Given the description of an element on the screen output the (x, y) to click on. 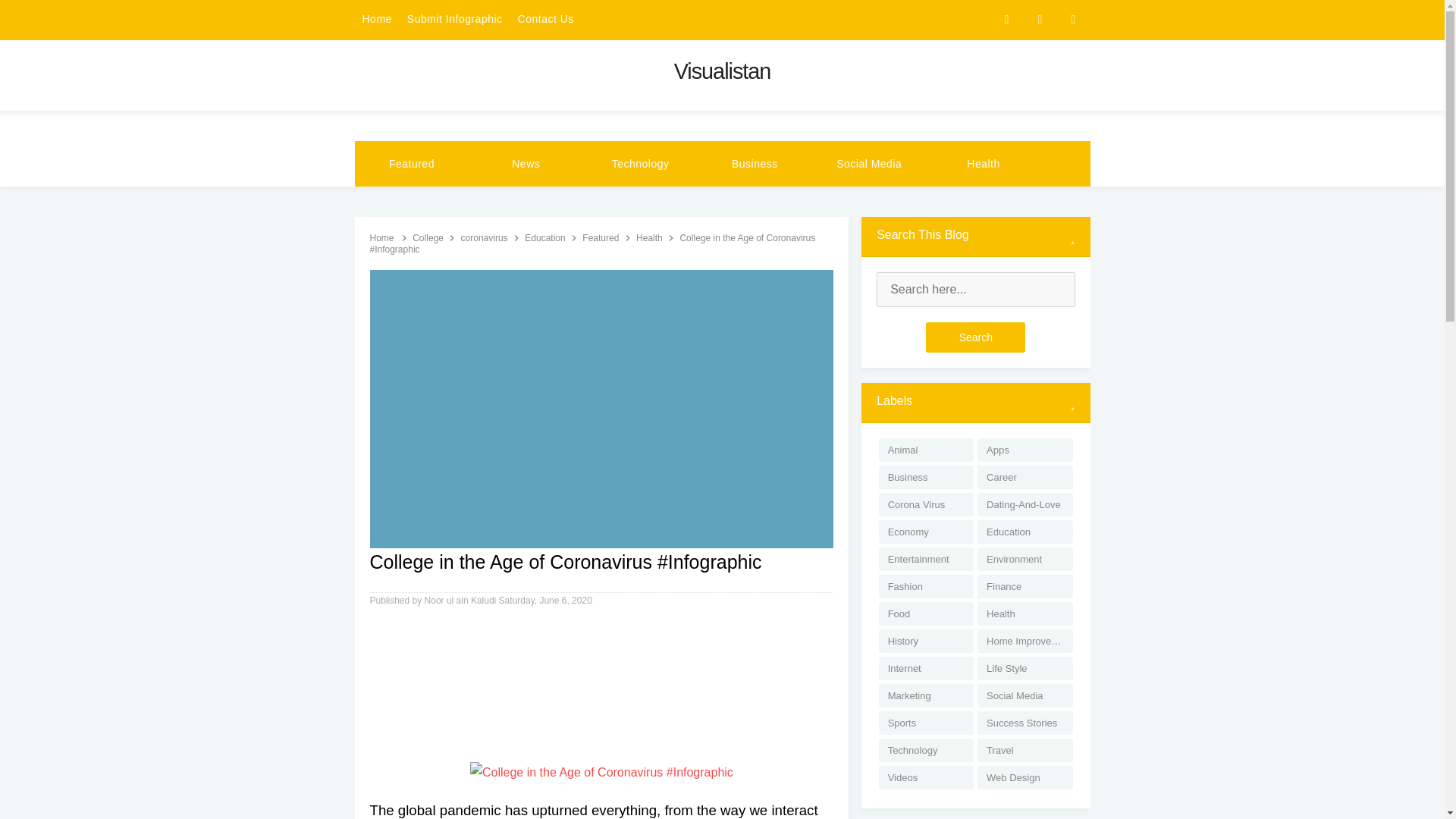
Visualistan (722, 70)
Technology (640, 163)
Visualistan (722, 70)
Education (545, 237)
Education (545, 237)
Search (975, 337)
coronavirus (486, 237)
Submit Infographic (454, 20)
Featured (411, 163)
College (428, 237)
Home (381, 237)
Home (376, 20)
Follow our Twitter (1073, 20)
Contact Us (545, 20)
Advertisement (601, 688)
